Given the description of an element on the screen output the (x, y) to click on. 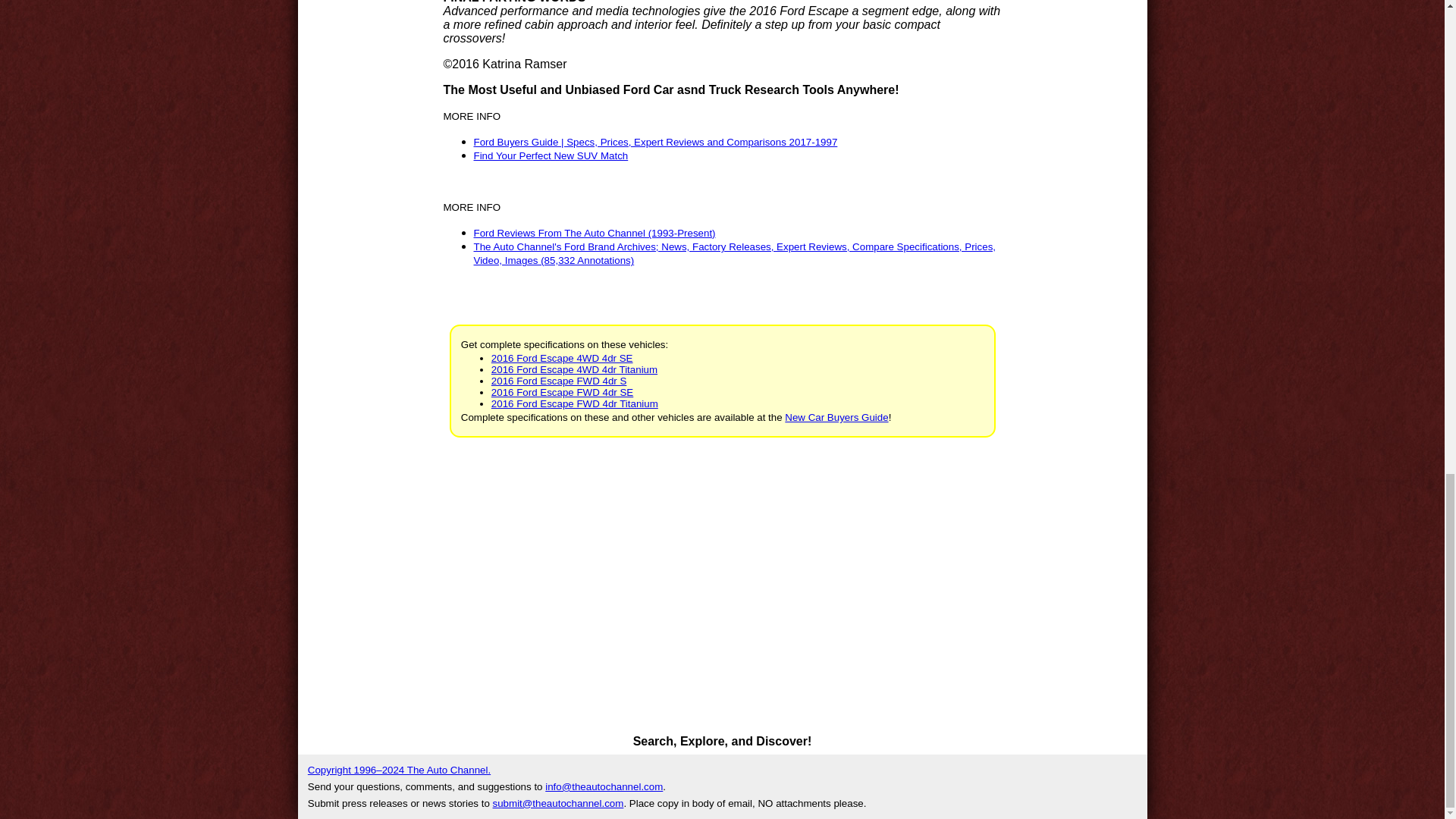
2016 Ford Escape 4WD 4dr Titanium (575, 369)
2016 Ford Escape FWD 4dr SE (562, 392)
2016 Ford Escape 4WD 4dr SE (562, 357)
2016 Ford Escape FWD 4dr Titanium (575, 403)
2016 Ford Escape FWD 4dr S (559, 380)
Find Your Perfect New SUV Match (550, 155)
